Given the description of an element on the screen output the (x, y) to click on. 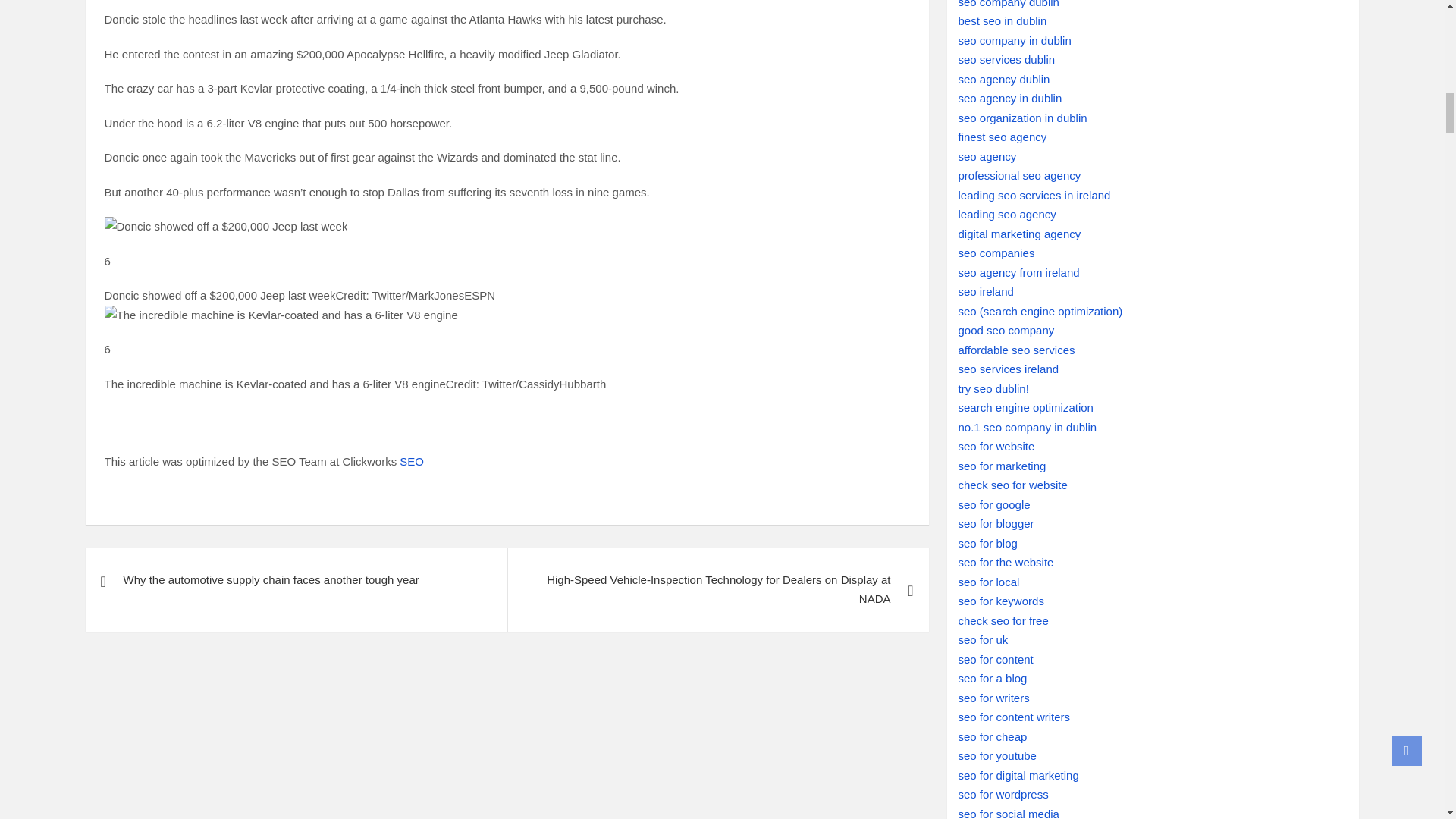
Why the automotive supply chain faces another tough year (295, 579)
SEO (410, 461)
